Given the description of an element on the screen output the (x, y) to click on. 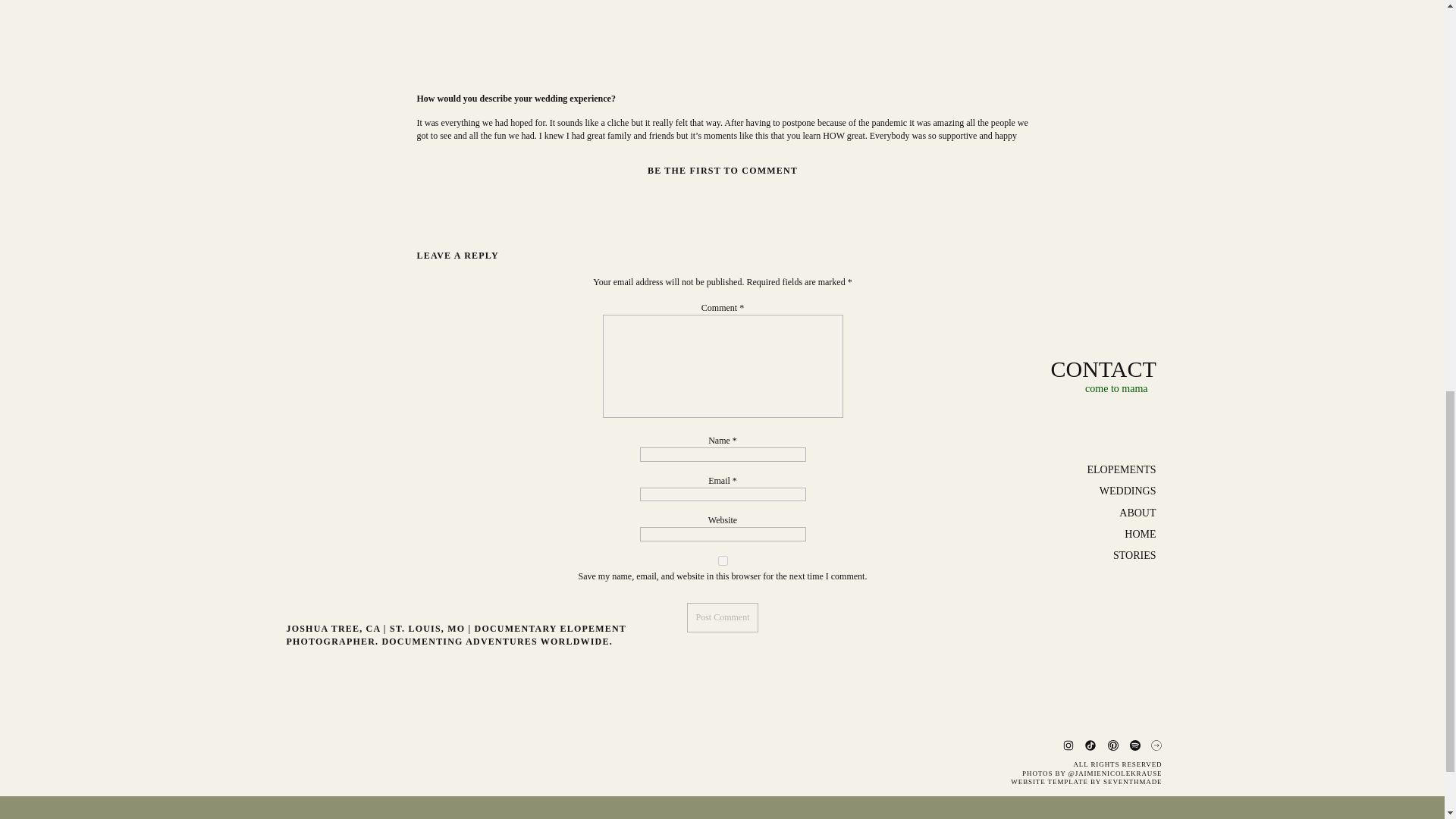
yes (722, 560)
Post Comment (722, 617)
HOME (1099, 534)
ABOUT (1099, 513)
Post Comment (722, 617)
ELOPEMENTS (1099, 469)
WEBSITE TEMPLATE BY SEVENTHMADE (1079, 780)
BE THE FIRST TO COMMENT (722, 170)
WEDDINGS (1099, 491)
CONTACT (1103, 364)
